Given the description of an element on the screen output the (x, y) to click on. 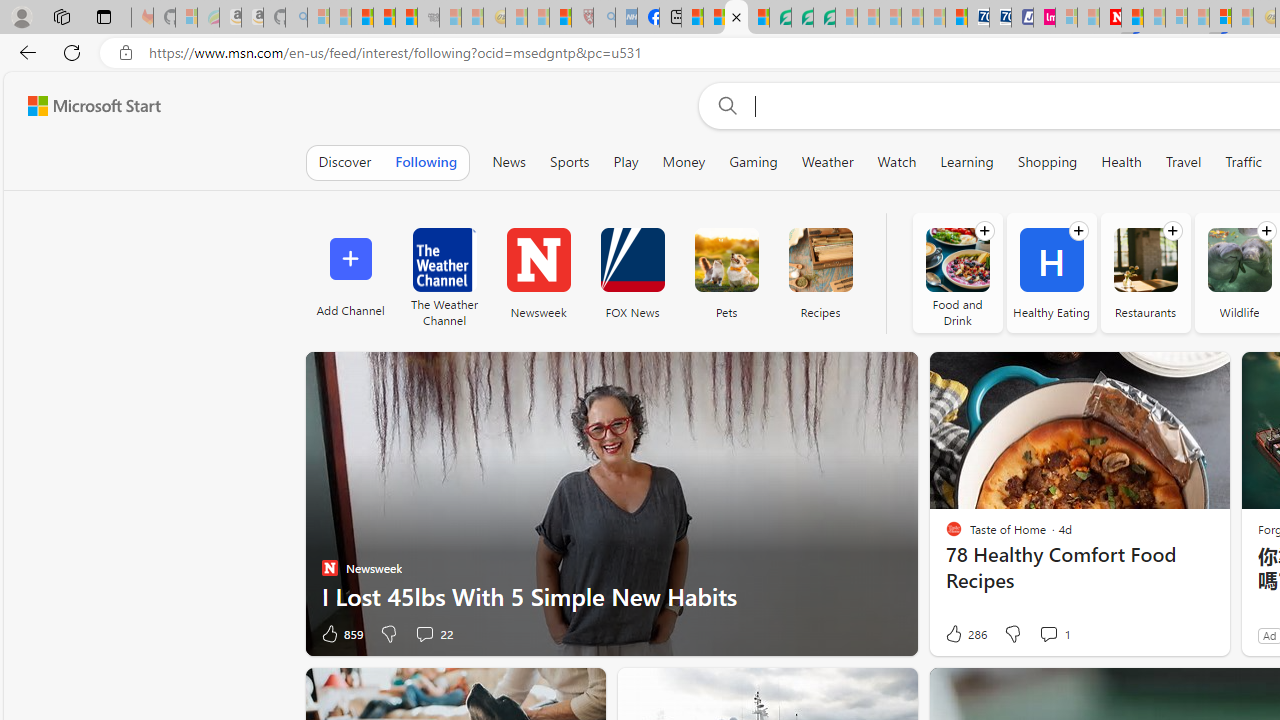
Terms of Use Agreement (802, 17)
FOX News (632, 260)
859 Like (341, 633)
Pets (726, 260)
FOX News (632, 272)
The Weather Channel (444, 272)
Restaurants (1145, 260)
